Given the description of an element on the screen output the (x, y) to click on. 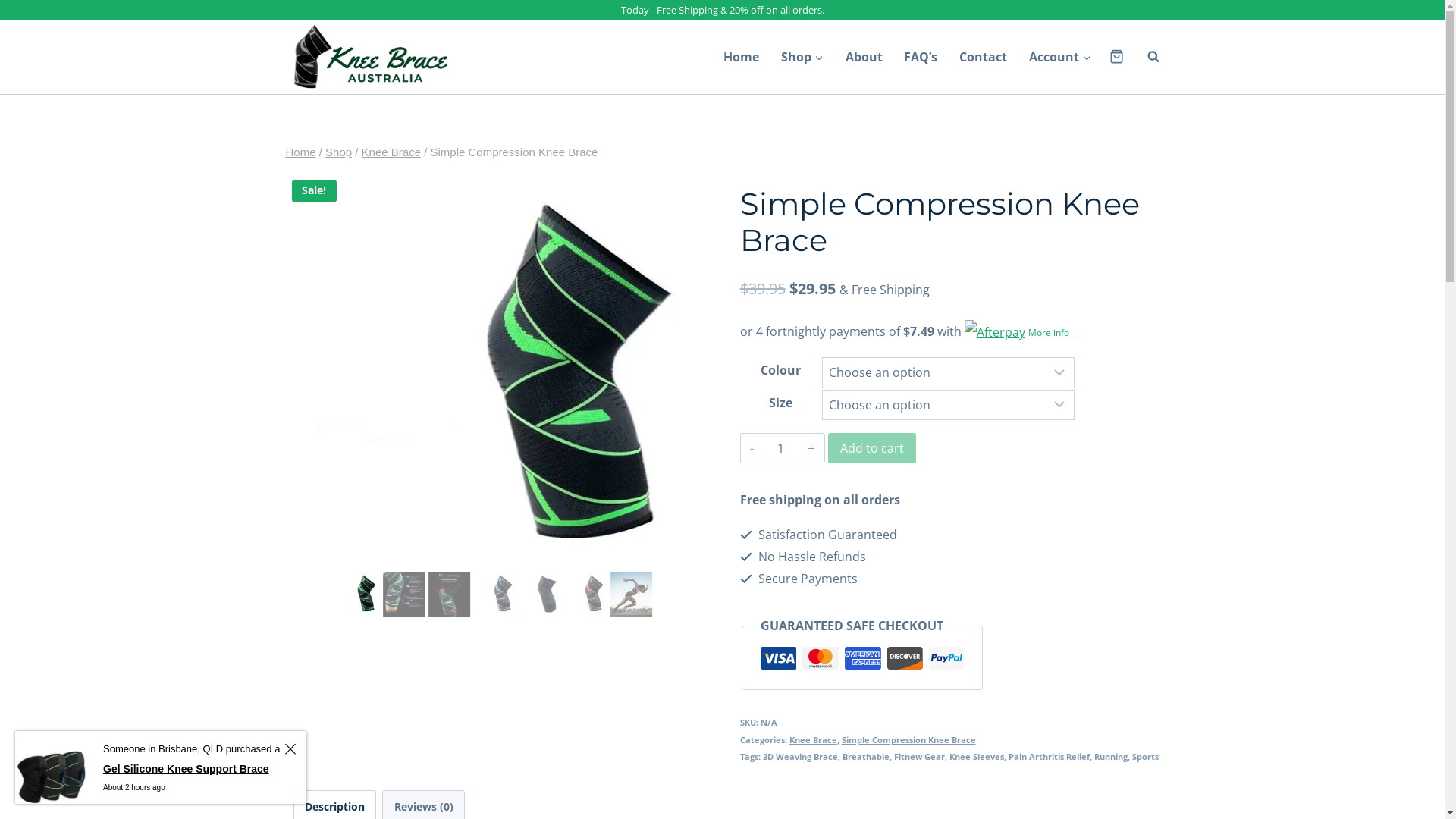
Home Element type: text (741, 56)
Fitnew Gear Element type: text (919, 756)
Qty Element type: hover (780, 447)
Breathable Element type: text (865, 756)
Simple-Compression-Knee-Brace_IMG6 Element type: hover (913, 383)
Simple Compression Knee Brace Element type: text (908, 739)
Home Element type: text (300, 151)
Shop Element type: text (801, 56)
Shop Element type: text (338, 151)
Running Element type: text (1110, 756)
Knee Brace Element type: text (390, 151)
Account Element type: text (1060, 56)
Add to cart Element type: text (872, 448)
Contact Element type: text (983, 56)
More info Element type: text (1016, 331)
Simple-Compression-Knee-Brace_IMG1 Element type: hover (494, 383)
3D Weaving Brace Element type: text (799, 756)
About Element type: text (863, 56)
Gel Silicone Knee Support Brace Element type: text (118, 768)
Pain Arthritis Relief Element type: text (1048, 756)
Knee Sleeves Element type: text (976, 756)
Knee Brace Element type: text (813, 739)
Sports Element type: text (1145, 756)
